Given the description of an element on the screen output the (x, y) to click on. 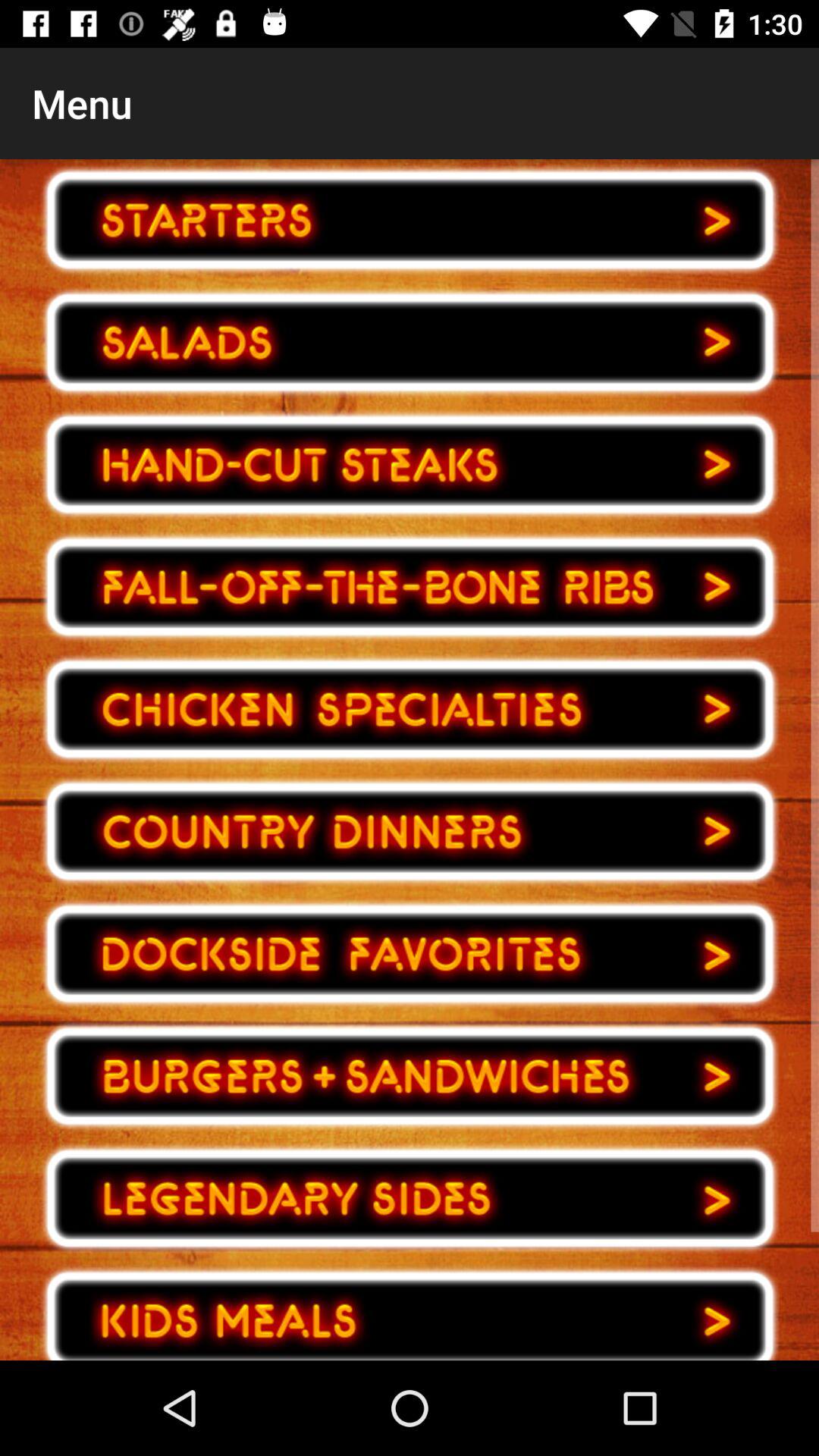
choose salad type (409, 342)
